Given the description of an element on the screen output the (x, y) to click on. 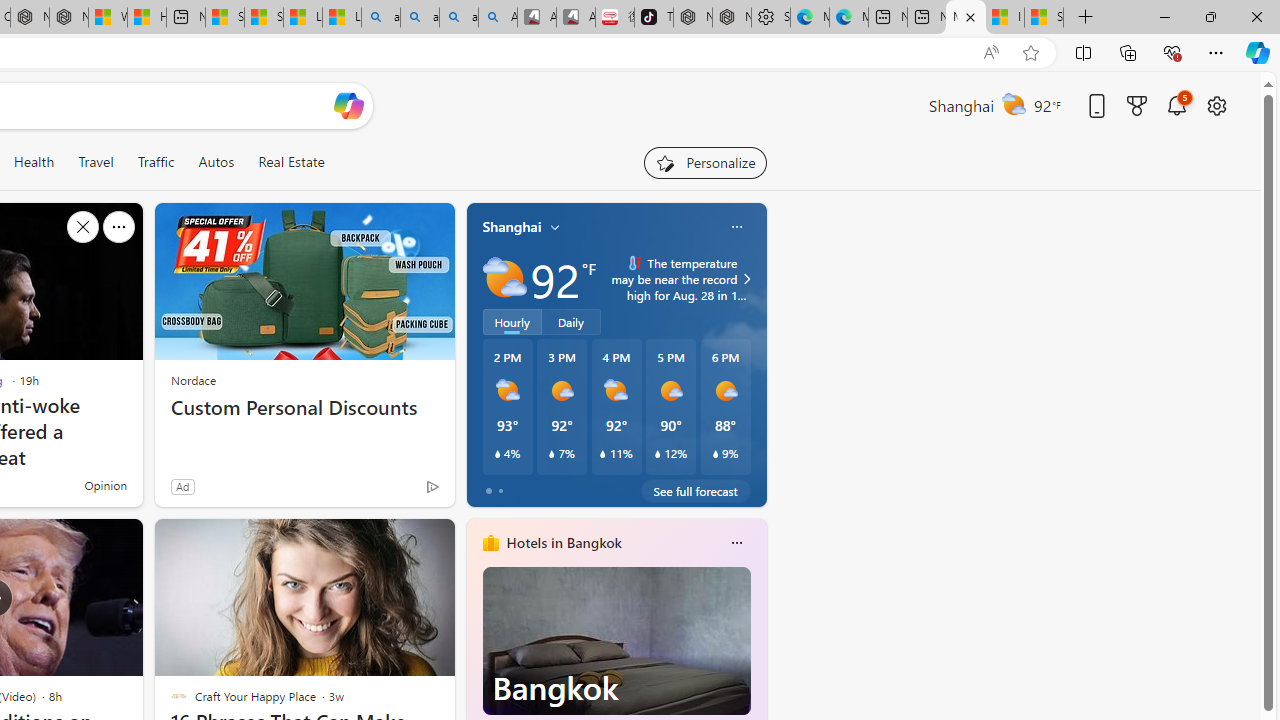
Daily (571, 321)
Hotels in Bangkok (563, 543)
Amazon Echo Robot - Search Images (497, 17)
Open settings (1216, 105)
hotels-header-icon (490, 542)
